Given the description of an element on the screen output the (x, y) to click on. 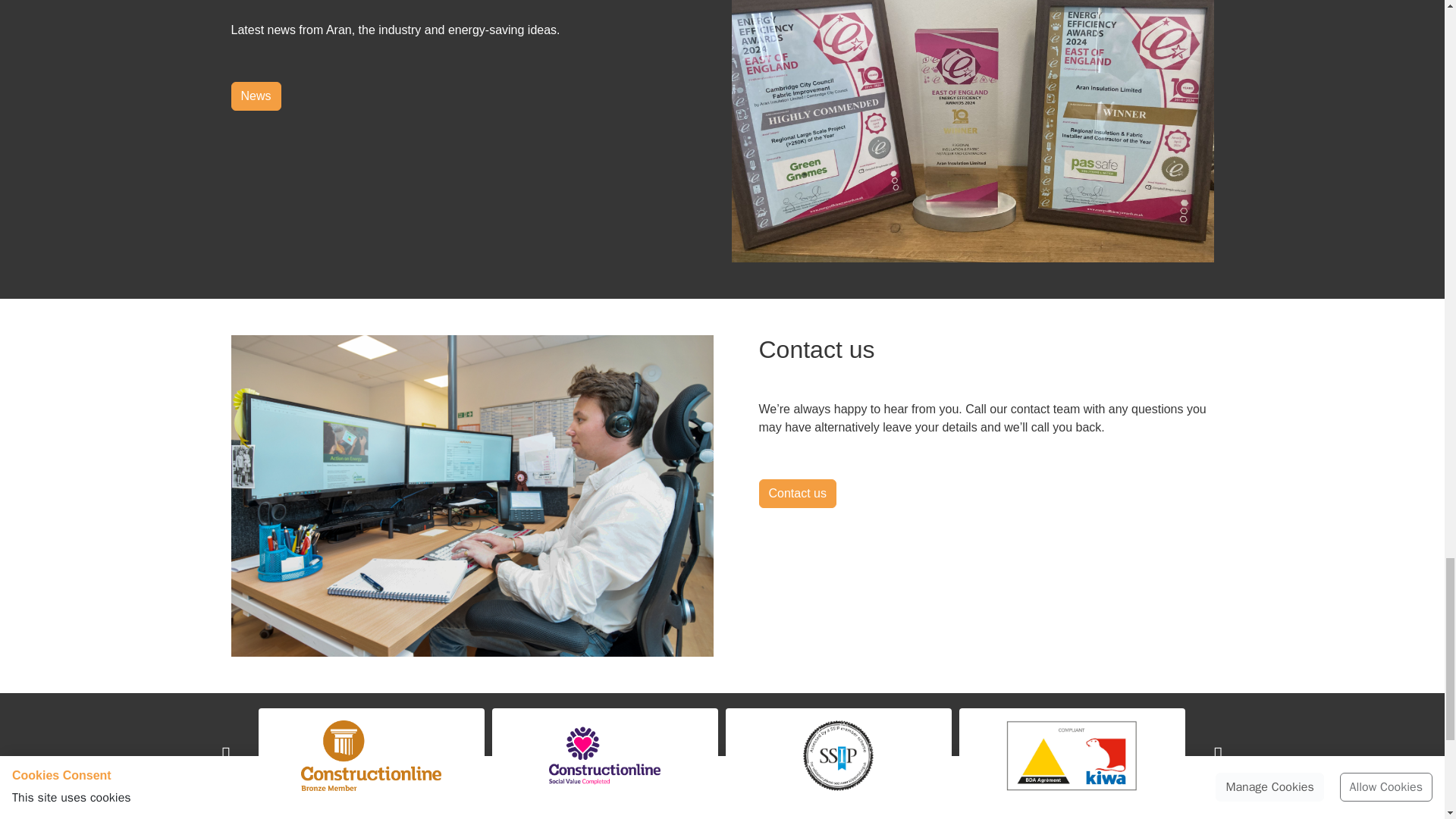
News (255, 95)
News (255, 95)
Kiwa (1071, 755)
Contact us (796, 493)
Contact us (796, 493)
